Given the description of an element on the screen output the (x, y) to click on. 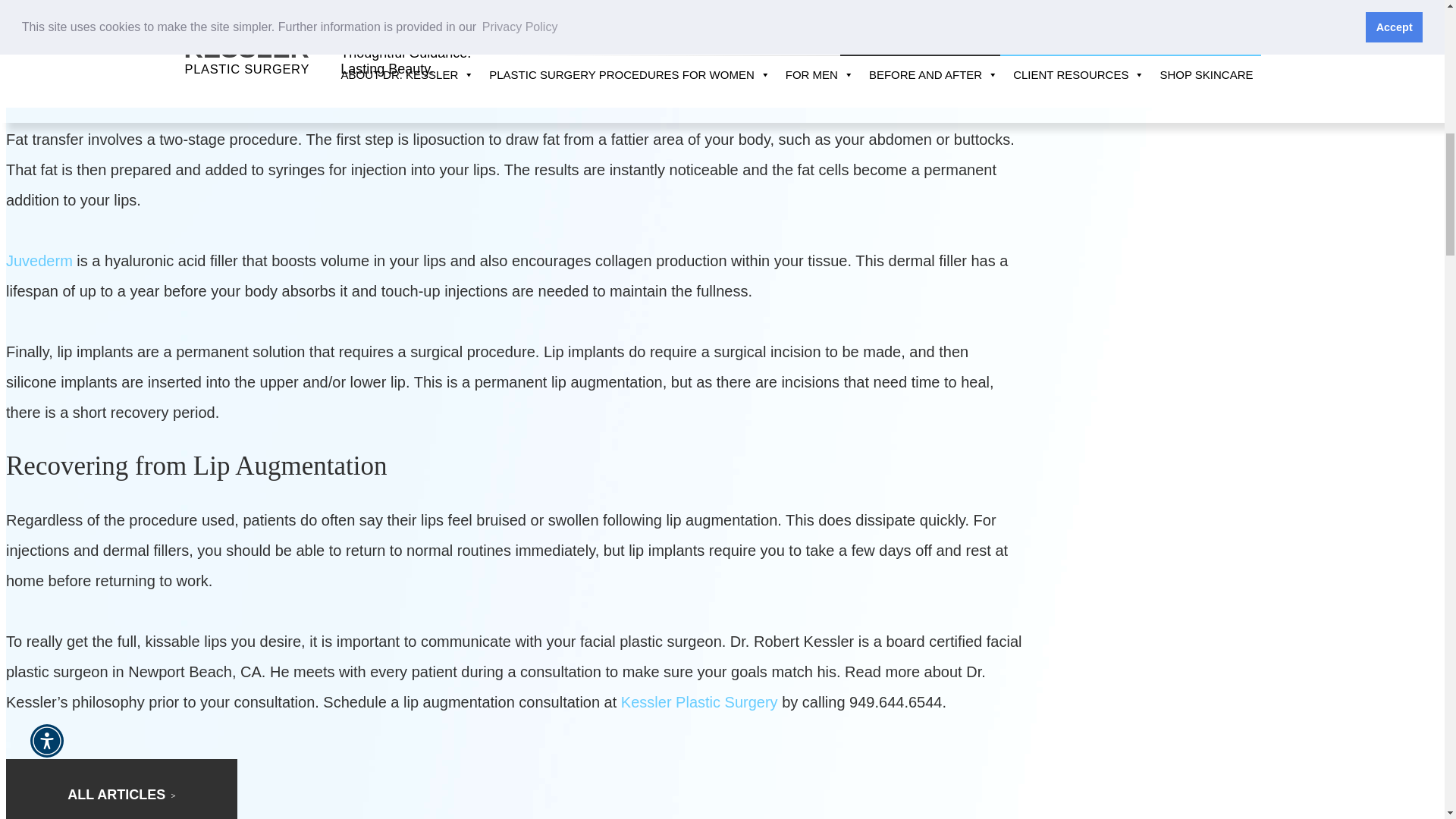
juvederm (38, 260)
